Given the description of an element on the screen output the (x, y) to click on. 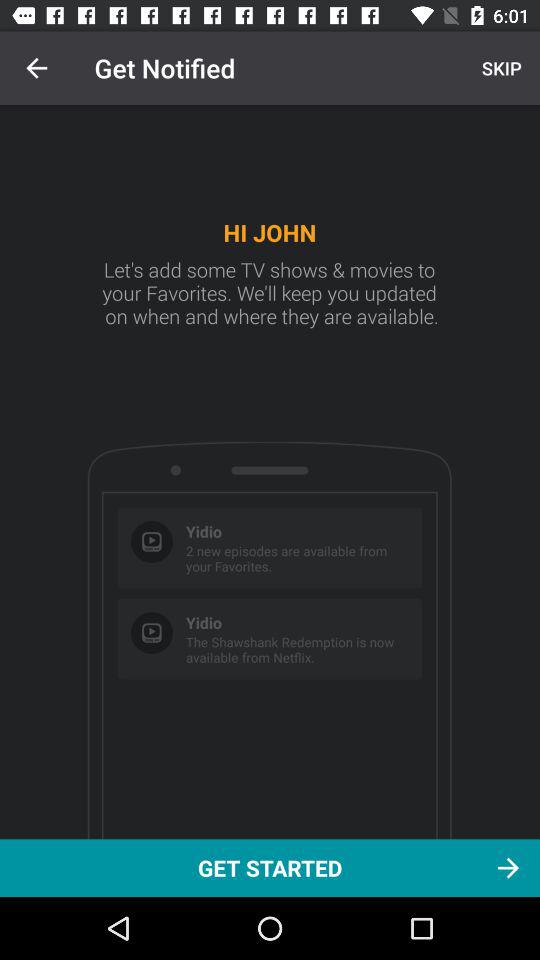
turn on the skip item (499, 67)
